Given the description of an element on the screen output the (x, y) to click on. 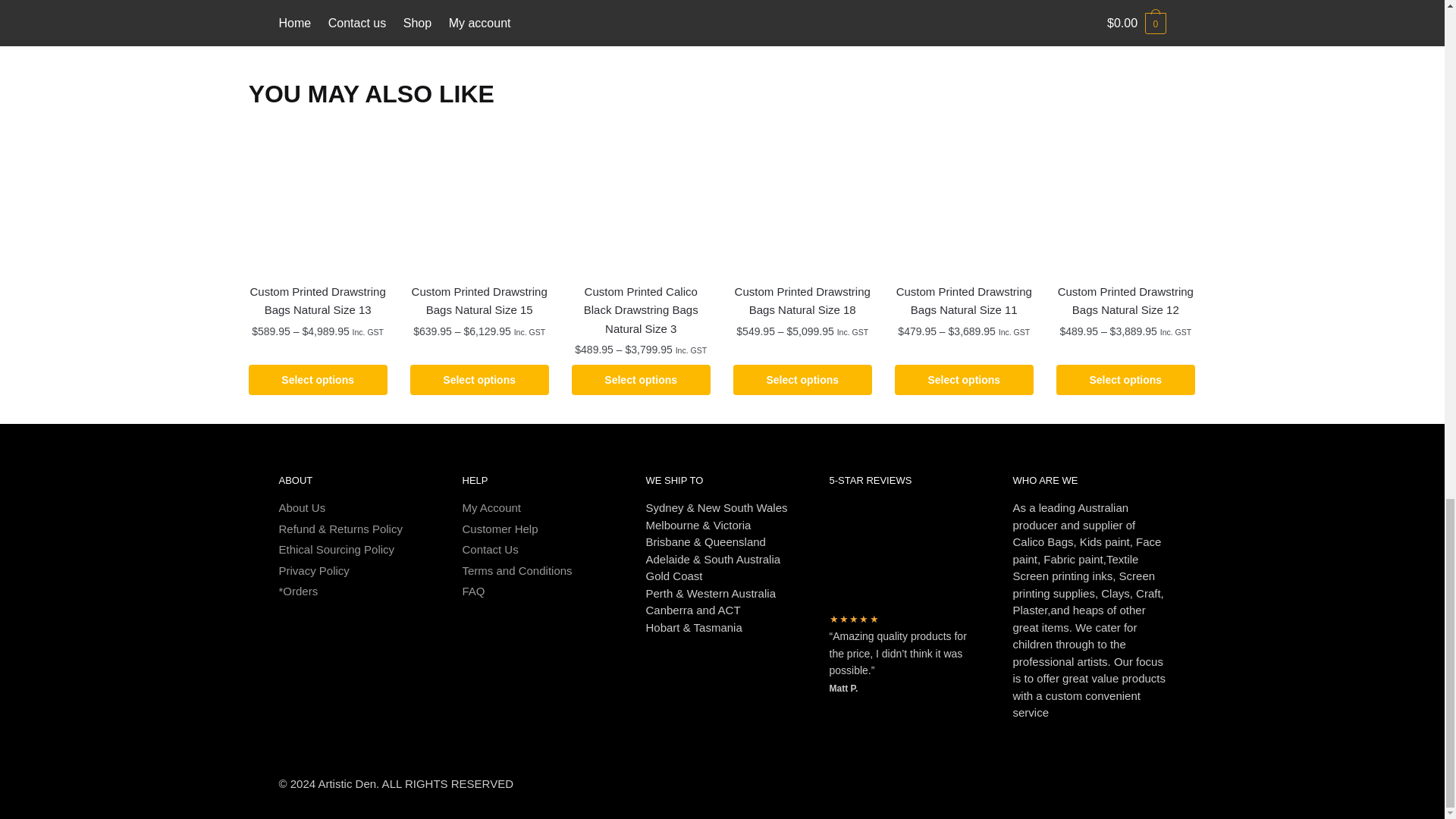
Custom Printed Drawstring Bags Natural Size 11 (964, 202)
Custom Printed Drawstring Bags Natural Size 13 (317, 202)
Custom Printed Calico Black Drawstring Bags Natural Size 3 (641, 202)
Custom Printed Drawstring Bags Natural Size 12 (1126, 202)
Custom Printed Drawstring Bags Natural Size 15 (479, 202)
Custom Printed Drawstring Bags Natural Size 18 (802, 202)
